Given the description of an element on the screen output the (x, y) to click on. 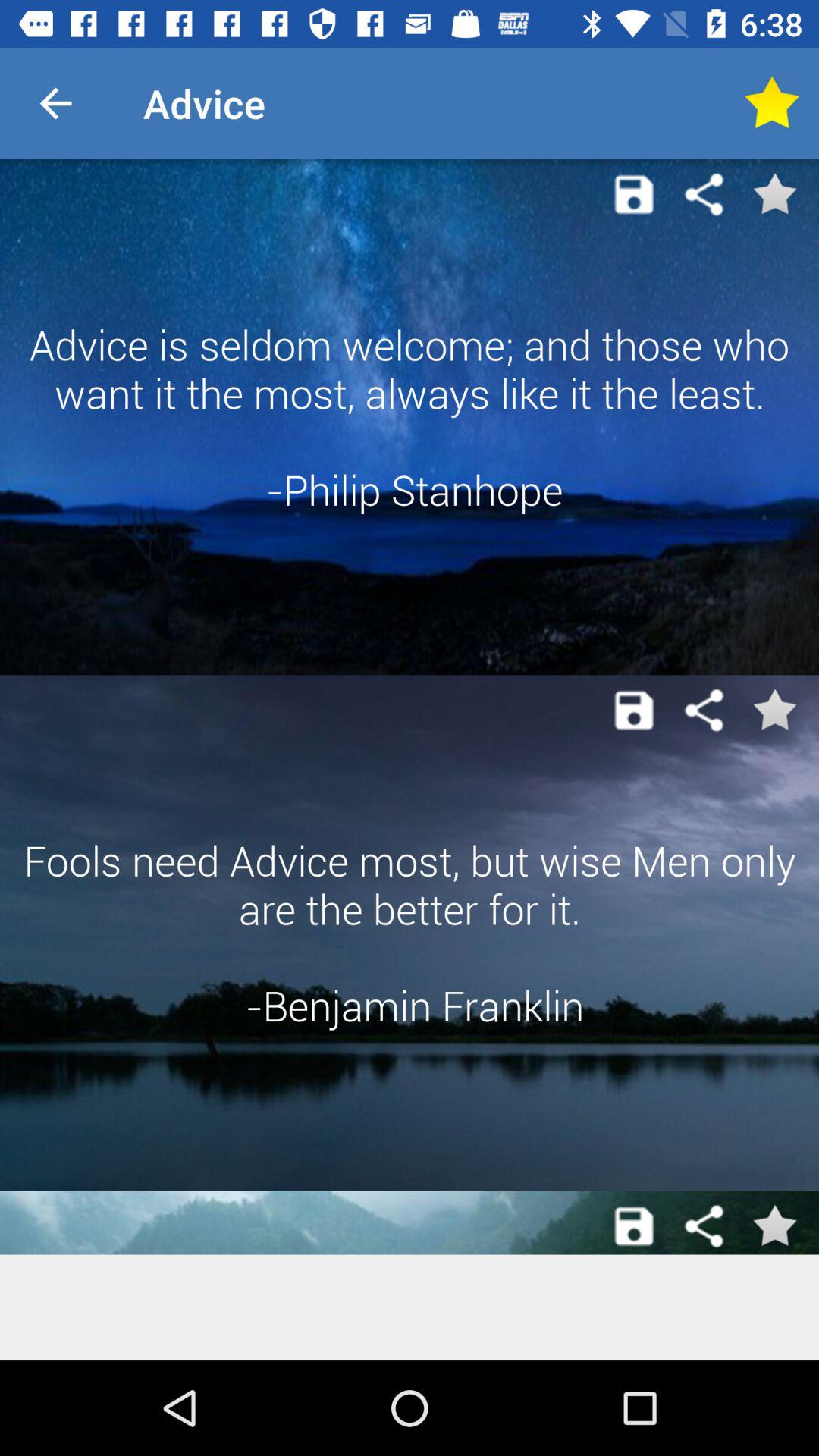
tap the item next to the advice (55, 103)
